Given the description of an element on the screen output the (x, y) to click on. 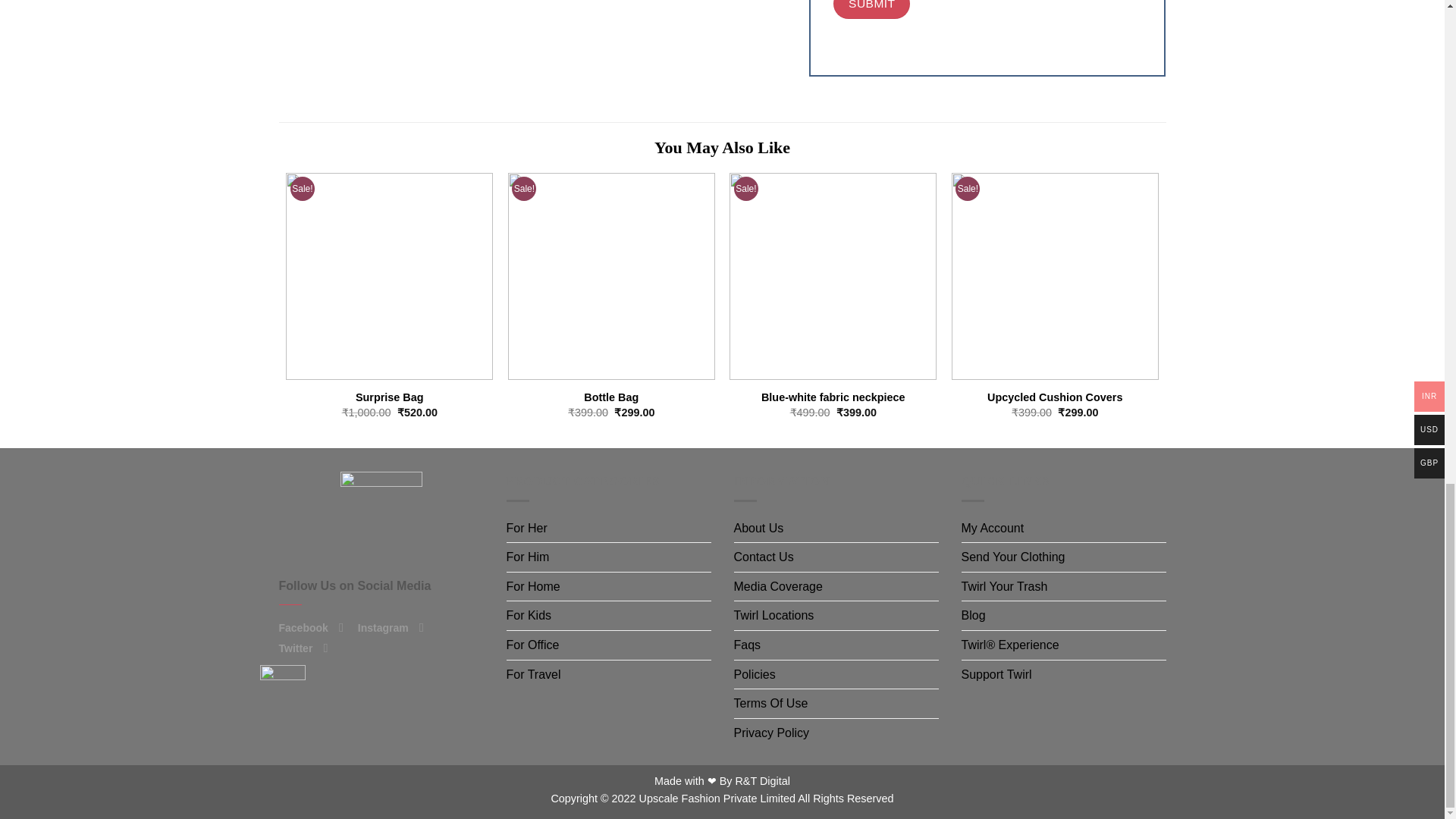
Follow on Twitter (328, 647)
Submit (871, 9)
Follow on Instagram (424, 626)
Follow on Facebook (344, 626)
